Given the description of an element on the screen output the (x, y) to click on. 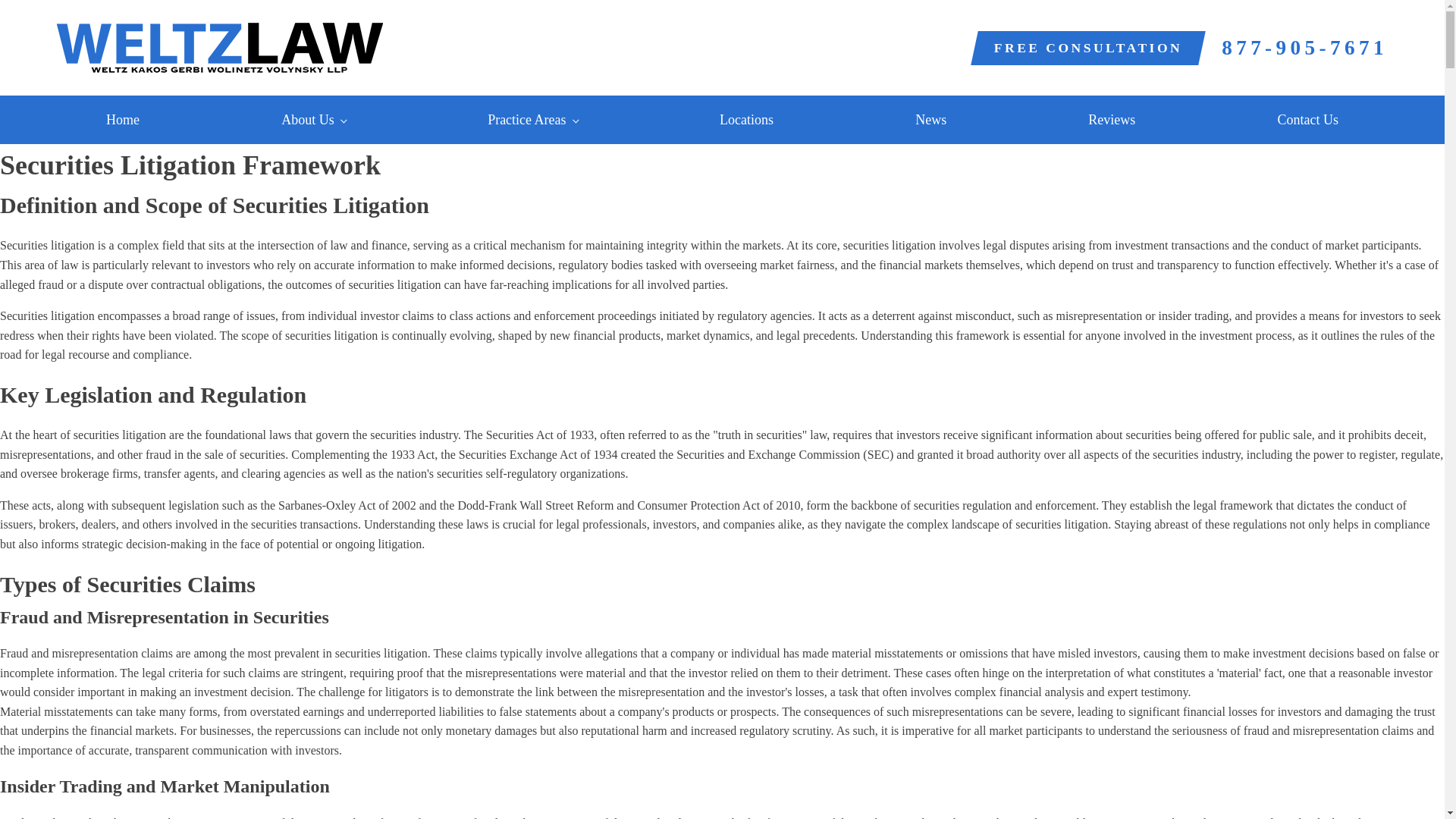
Practice Areas (531, 119)
News (929, 119)
FREE CONSULTATION (1088, 47)
877-905-7671 (1304, 47)
About Us (313, 119)
Contact Us (1308, 119)
Home (122, 119)
Reviews (1111, 119)
Locations (746, 119)
